Given the description of an element on the screen output the (x, y) to click on. 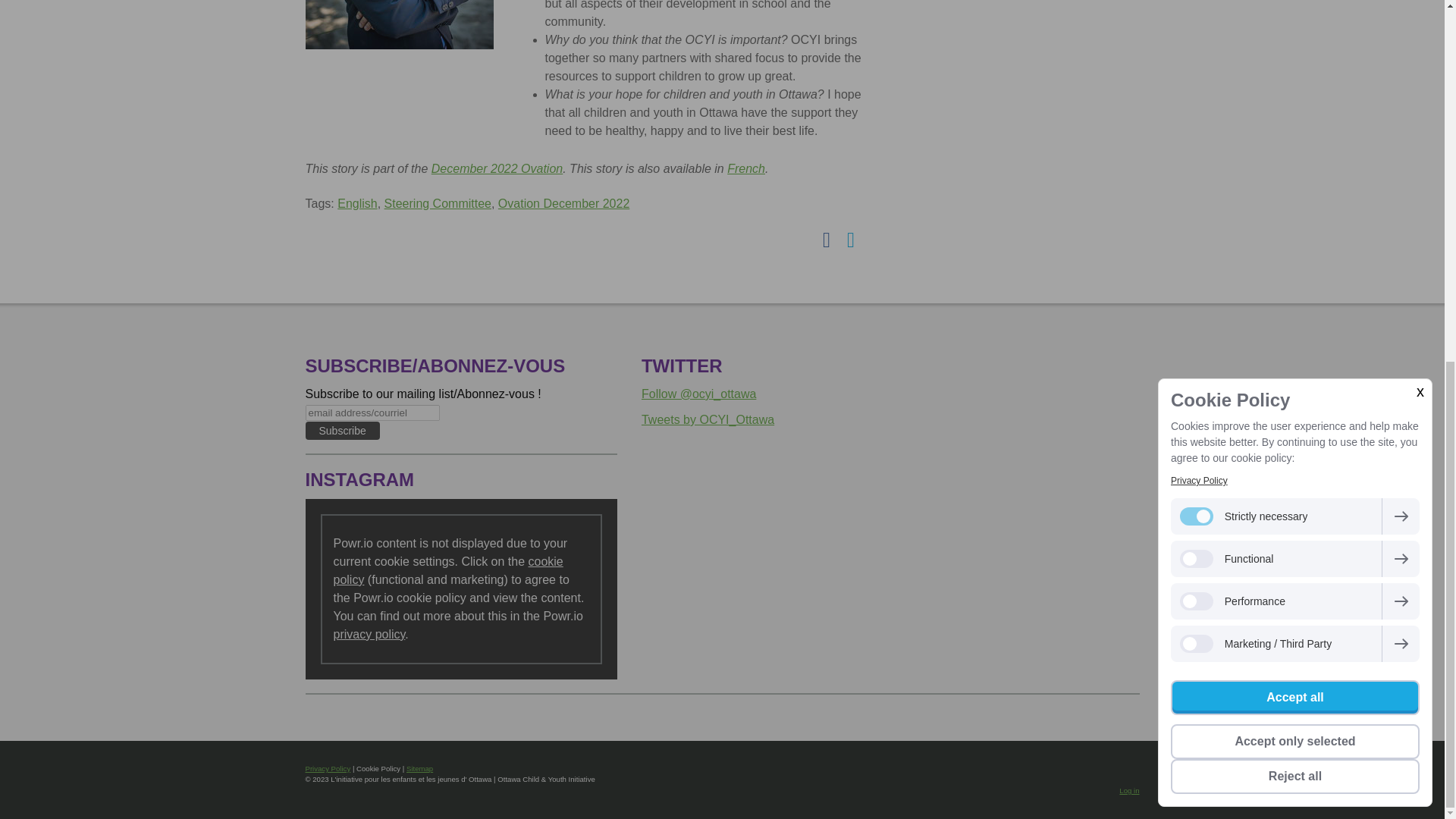
Subscribe (341, 430)
Twitter (850, 240)
Facebook (826, 240)
